Given the description of an element on the screen output the (x, y) to click on. 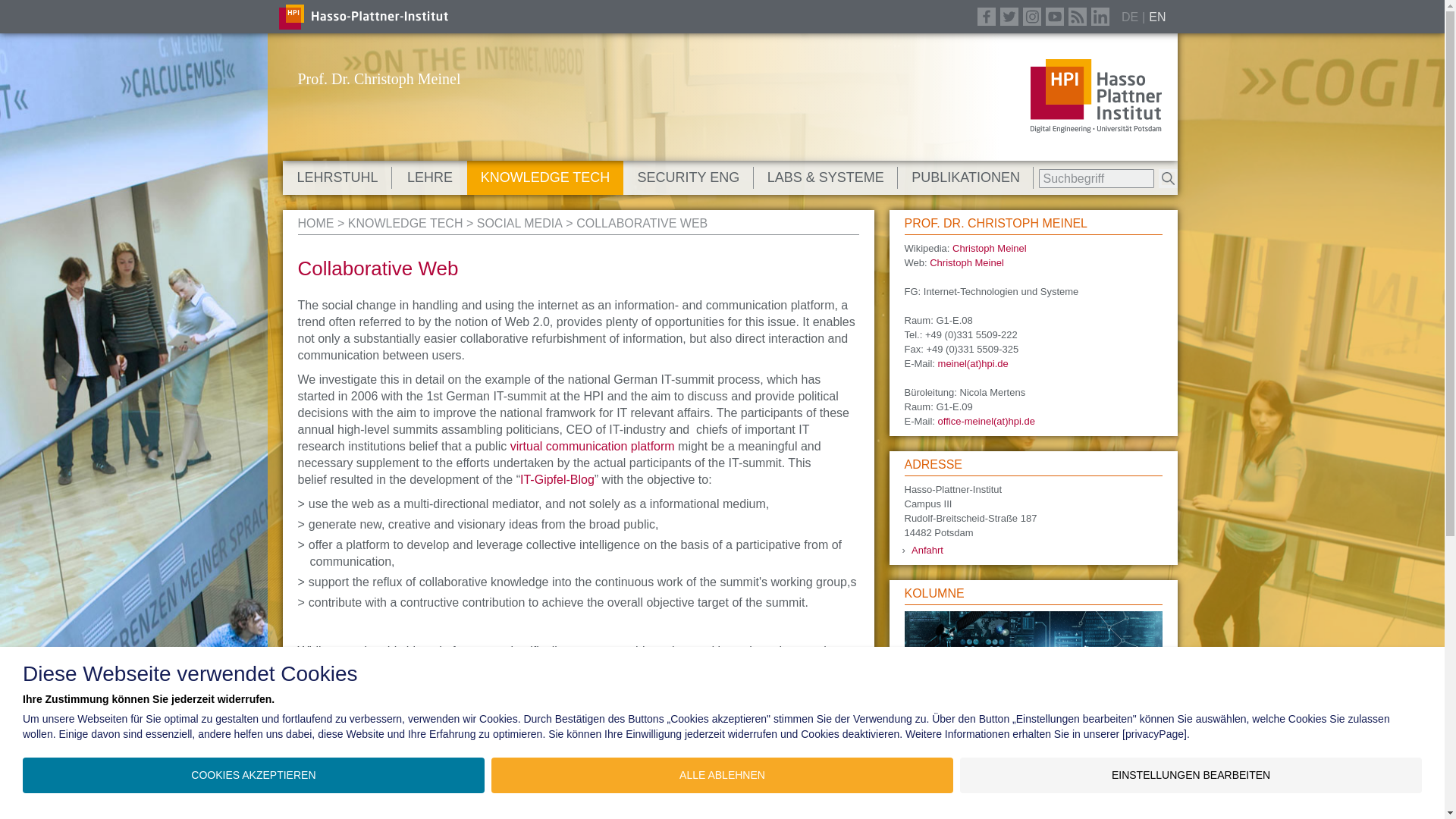
SUCHEN (1167, 178)
LEHRE (429, 177)
SECURITY ENG (688, 177)
PUBLIKATIONEN (965, 177)
Learning und Knowledge Engineering (405, 223)
EN (1157, 16)
Opens internal link in current window (590, 445)
LEHRSTUHL (336, 177)
Knowledge Engineering in sozialen Medien (519, 223)
Meinel (315, 223)
KNOWLEDGE TECH (545, 177)
Prof. Dr. Christoph Meinel (378, 78)
